Given the description of an element on the screen output the (x, y) to click on. 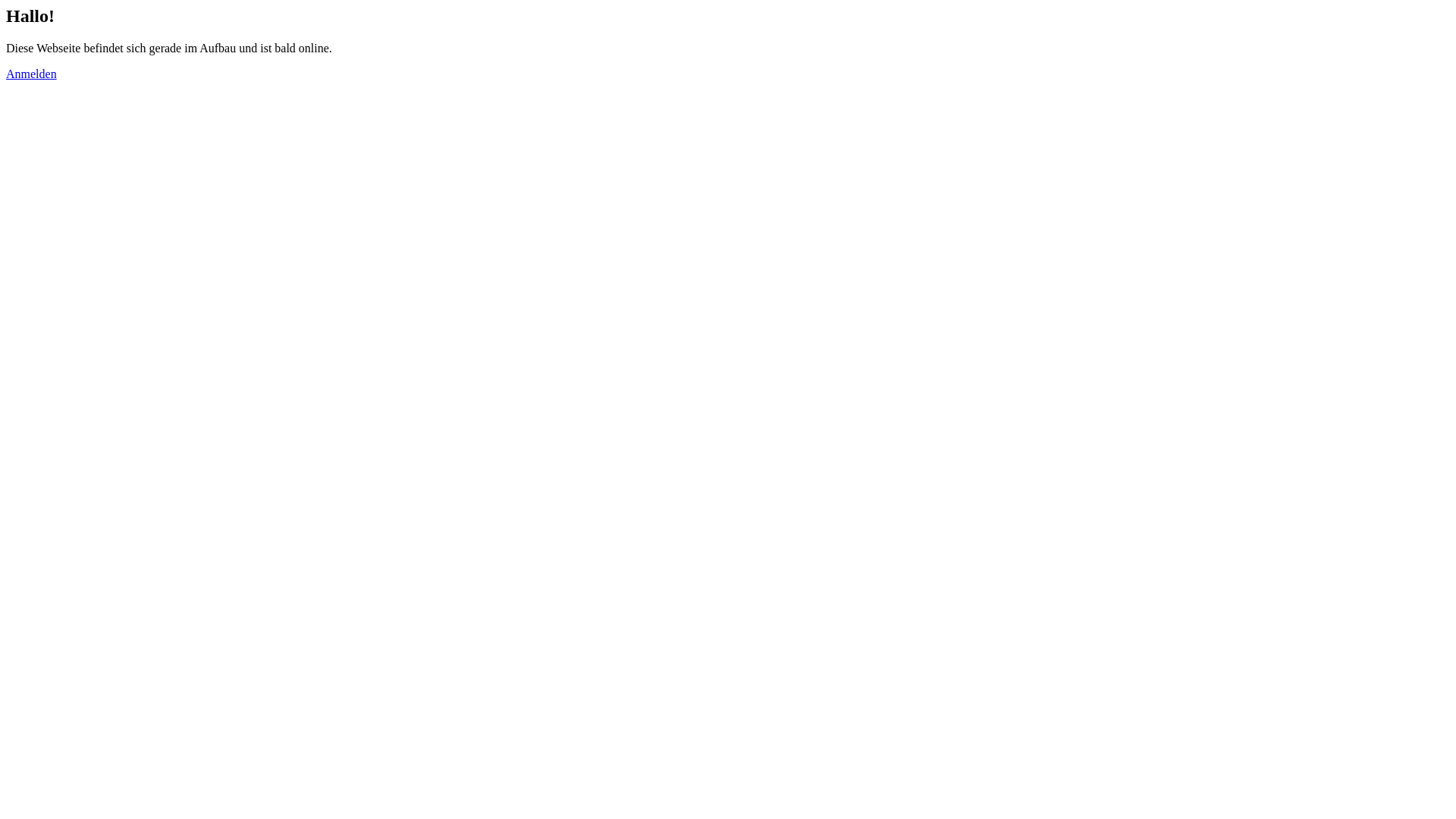
Anmelden Element type: text (31, 73)
